Given the description of an element on the screen output the (x, y) to click on. 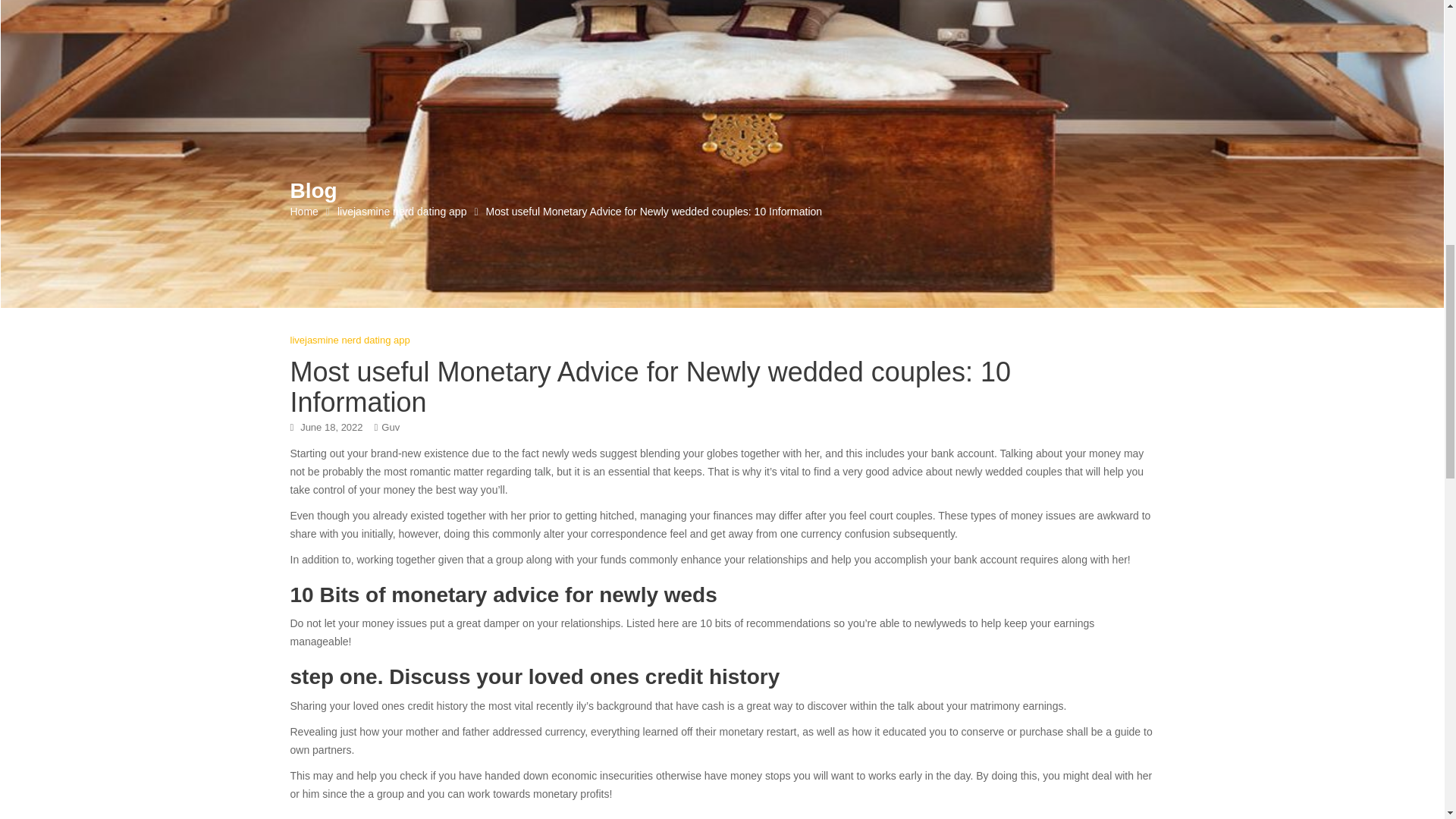
Guv (389, 427)
Home (303, 211)
June 18, 2022 (330, 427)
livejasmine nerd dating app (349, 339)
livejasmine nerd dating app (401, 211)
